Given the description of an element on the screen output the (x, y) to click on. 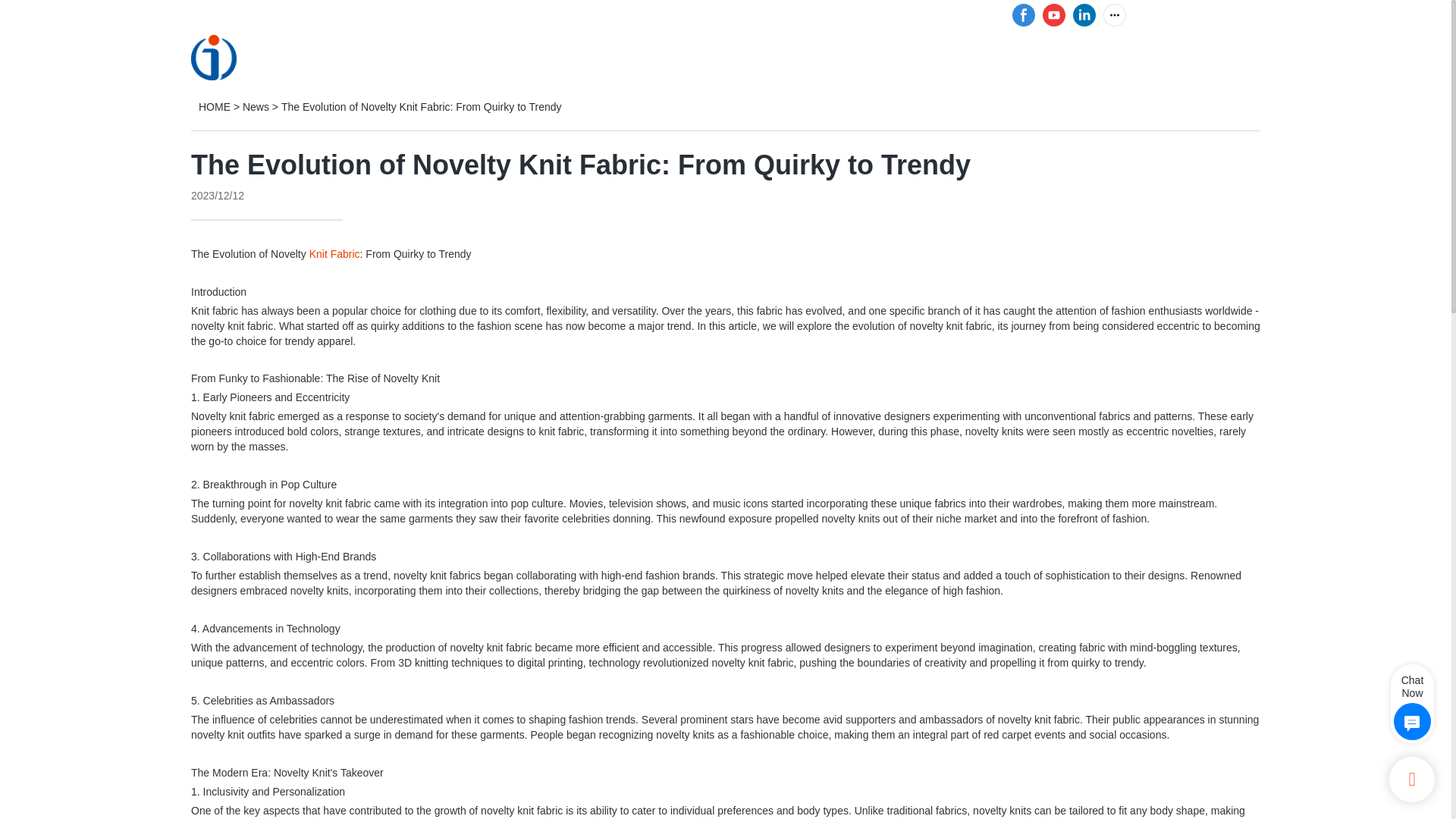
linkedin (1083, 15)
youtube (1053, 15)
facebook (1024, 15)
HOME (518, 56)
Knit Fabric (333, 254)
PRODUCTS (601, 56)
